Given the description of an element on the screen output the (x, y) to click on. 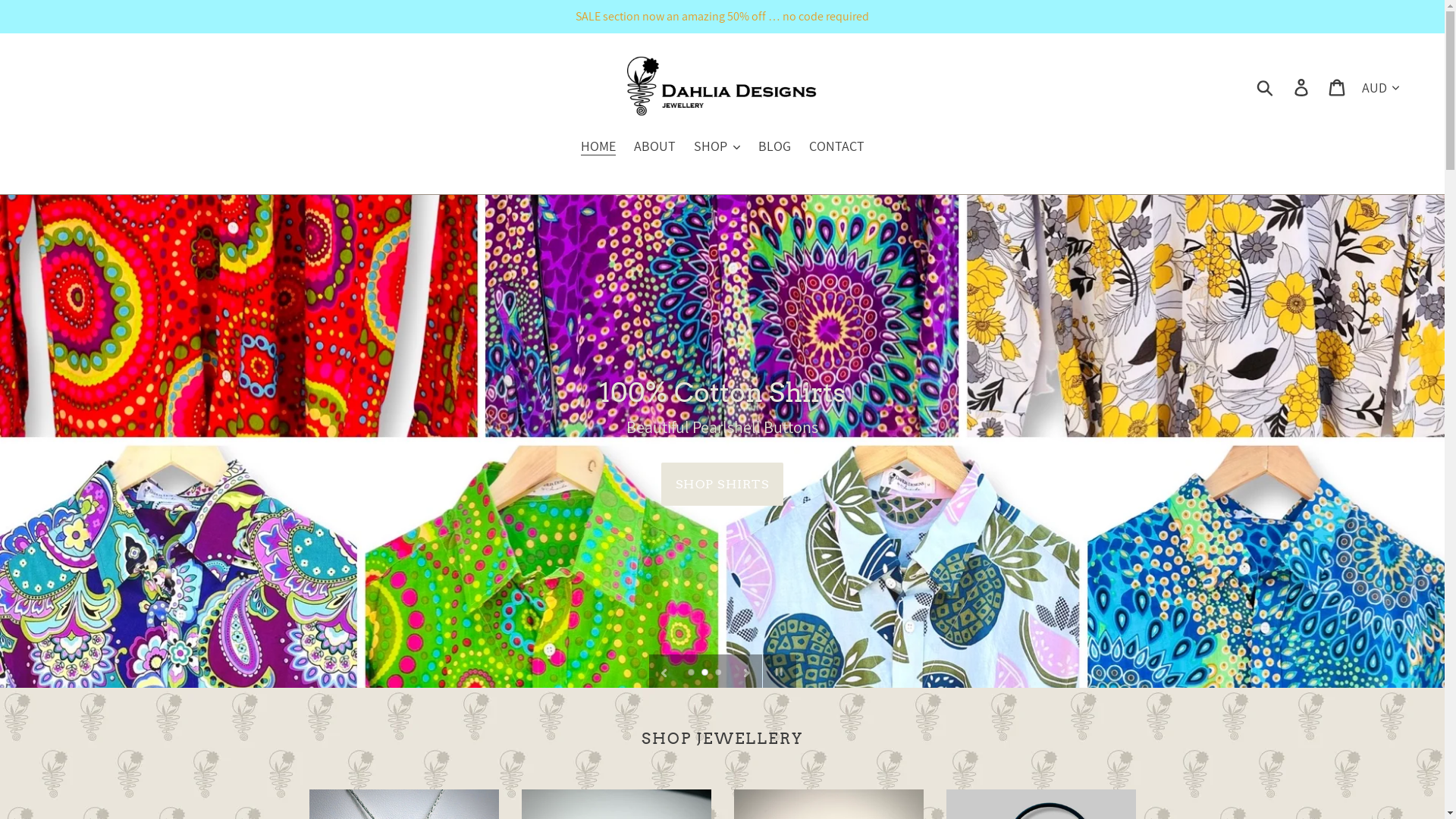
BLOG Element type: text (774, 146)
ABOUT Element type: text (654, 146)
SHOP SHIRTS Element type: text (722, 493)
Pause slideshow Element type: text (779, 670)
Submit Element type: text (1265, 86)
Cart Element type: text (1337, 85)
Log in Element type: text (1302, 85)
HOME Element type: text (598, 146)
CONTACT Element type: text (835, 146)
